Given the description of an element on the screen output the (x, y) to click on. 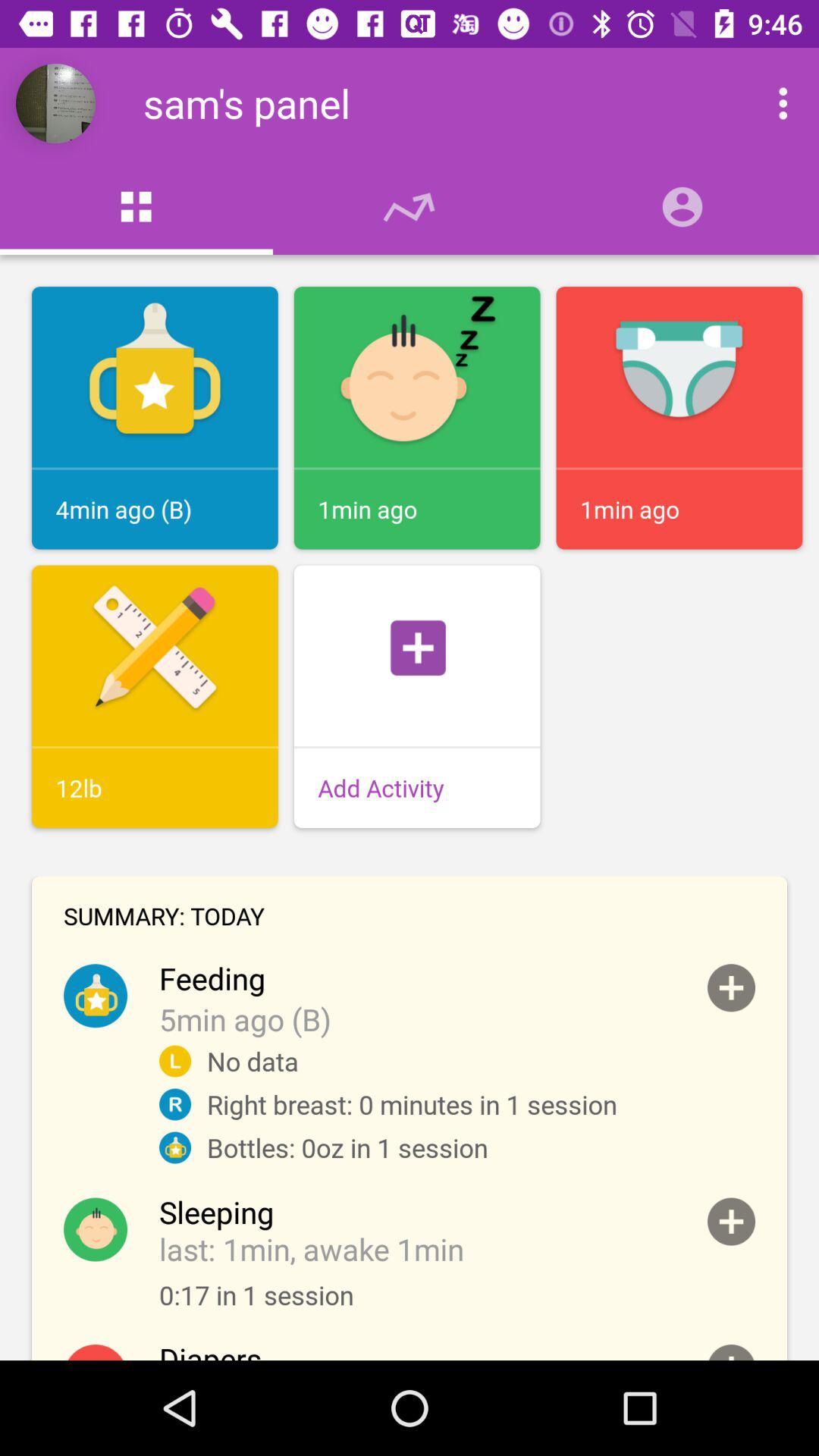
add feed (731, 987)
